Given the description of an element on the screen output the (x, y) to click on. 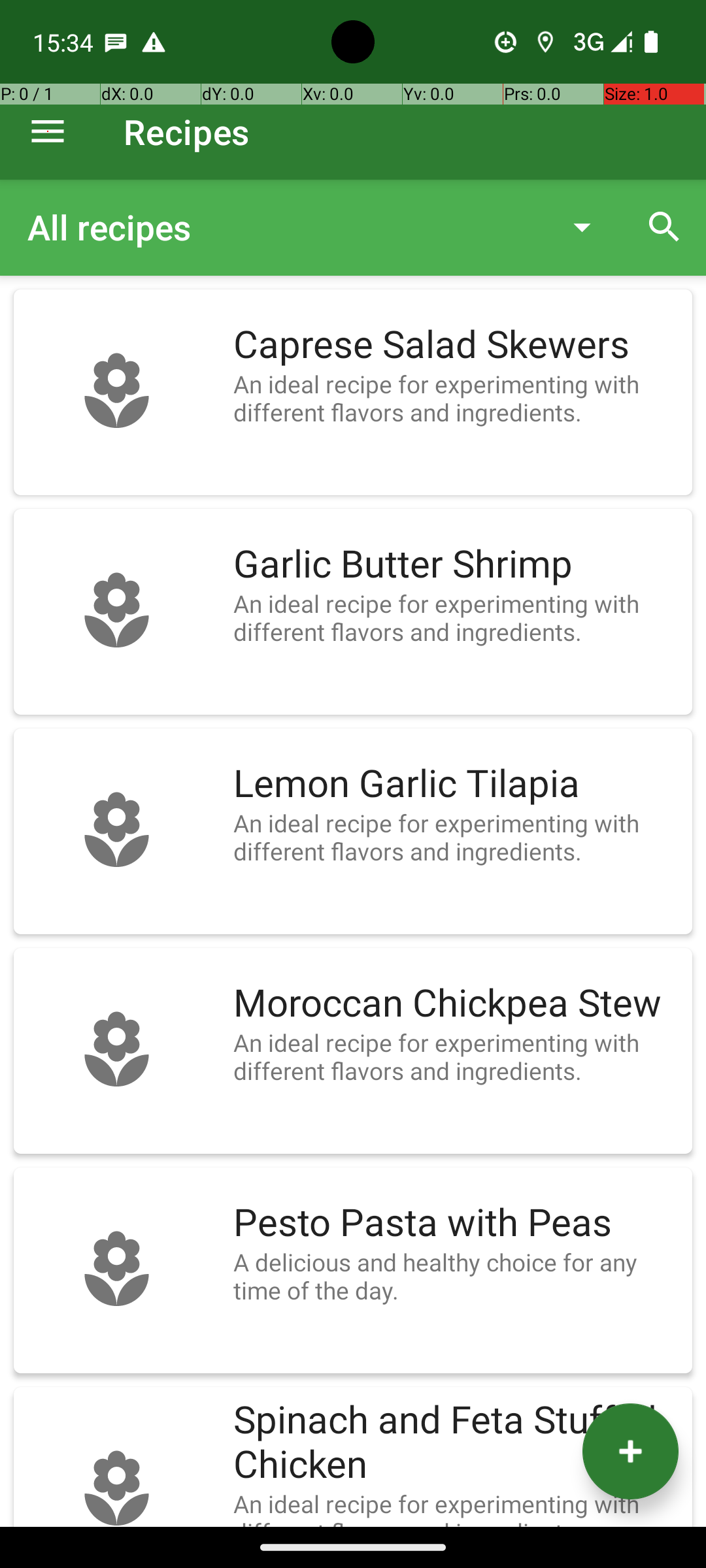
Garlic Butter Shrimp Element type: android.widget.TextView (455, 564)
Lemon Garlic Tilapia Element type: android.widget.TextView (455, 783)
Moroccan Chickpea Stew Element type: android.widget.TextView (455, 1003)
Pesto Pasta with Peas Element type: android.widget.TextView (455, 1222)
Spinach and Feta Stuffed Chicken Element type: android.widget.TextView (455, 1442)
